Given the description of an element on the screen output the (x, y) to click on. 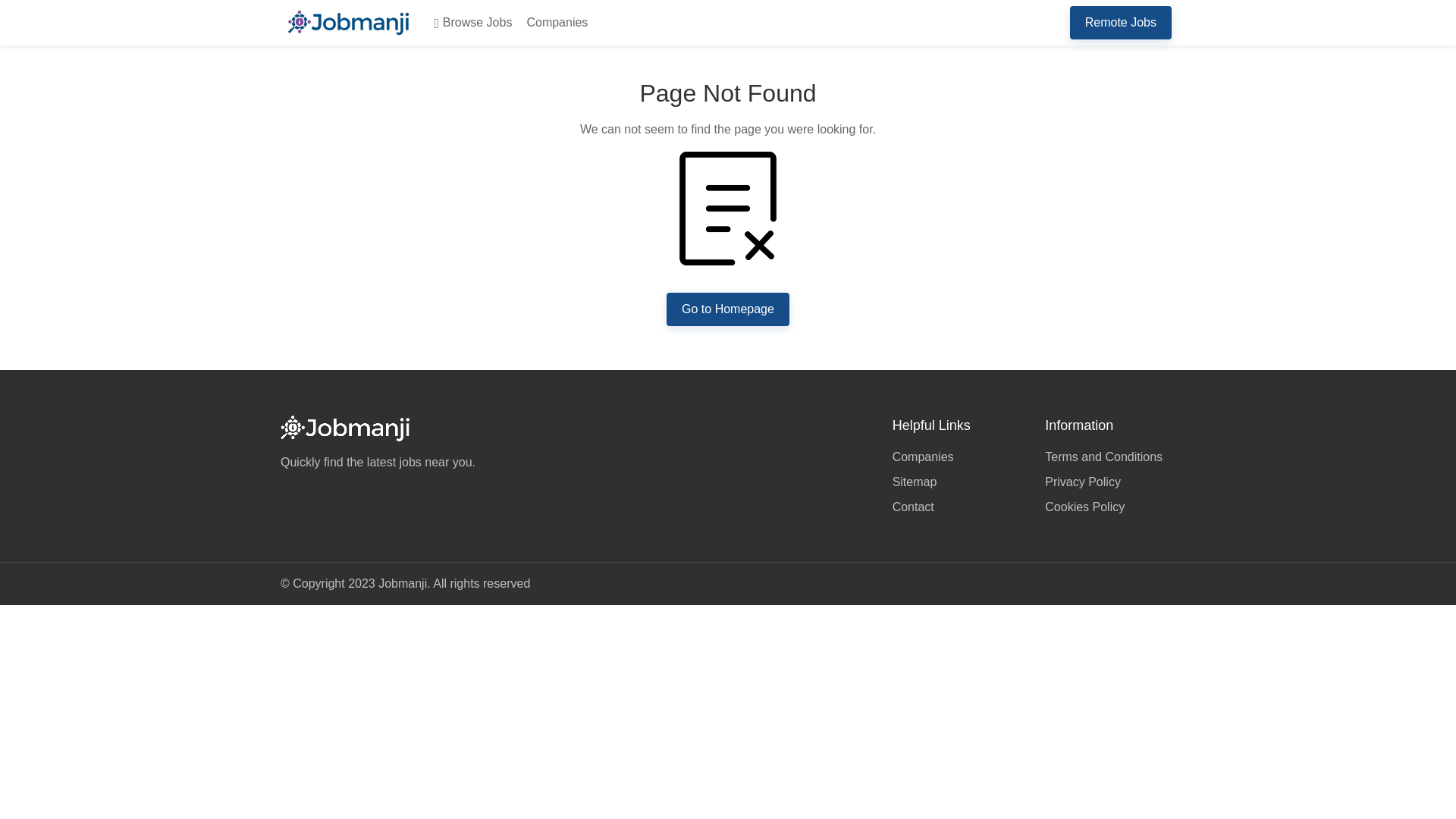
Sitemap (957, 481)
Terms and Conditions (1109, 458)
Contact (957, 505)
Companies (957, 458)
Companies (553, 22)
Remote Jobs (1121, 22)
Go to Homepage (727, 308)
Cookies Policy (1109, 505)
Browse Jobs (470, 22)
Privacy Policy (1109, 481)
